Given the description of an element on the screen output the (x, y) to click on. 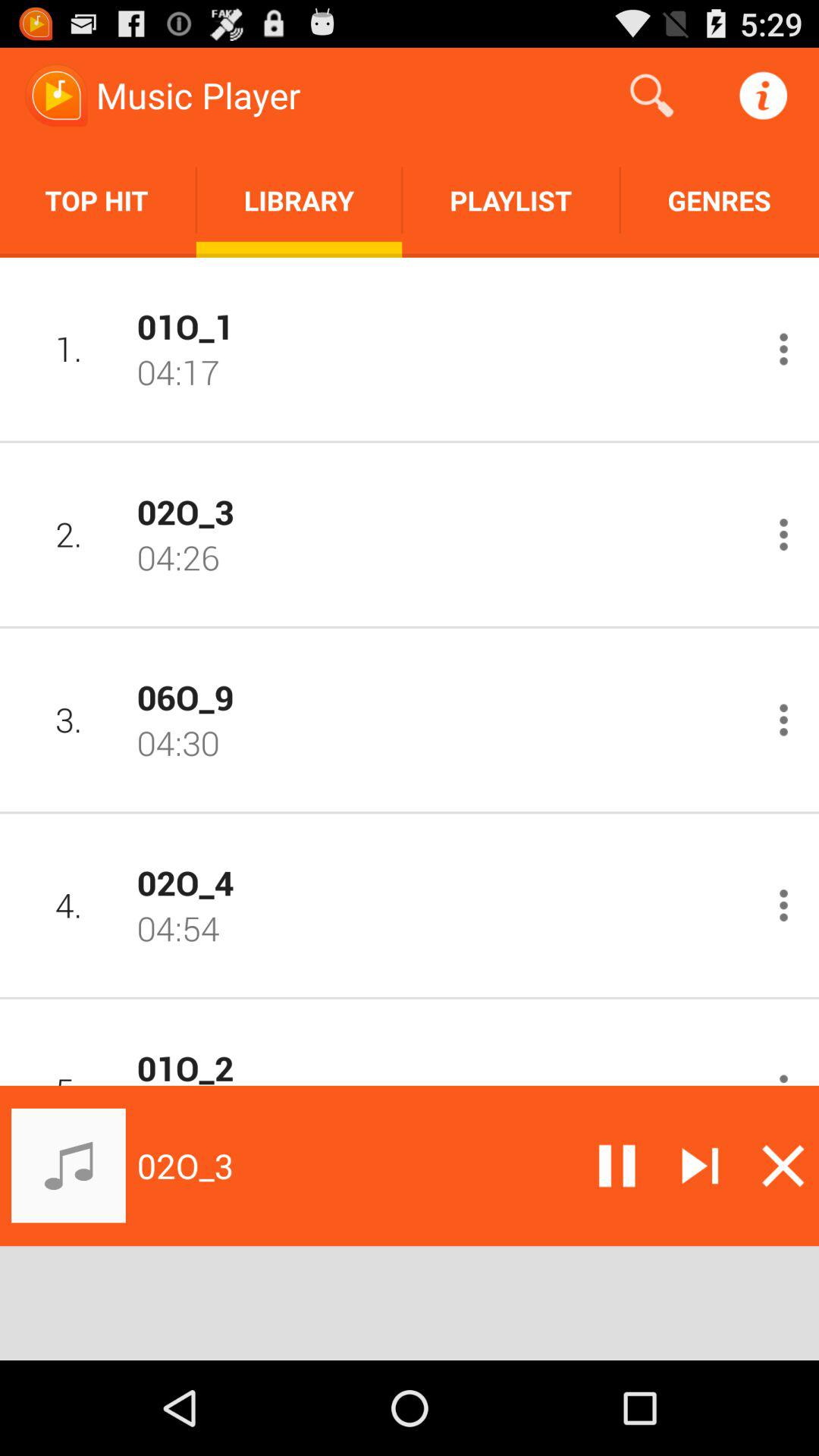
press 2. item (68, 534)
